Given the description of an element on the screen output the (x, y) to click on. 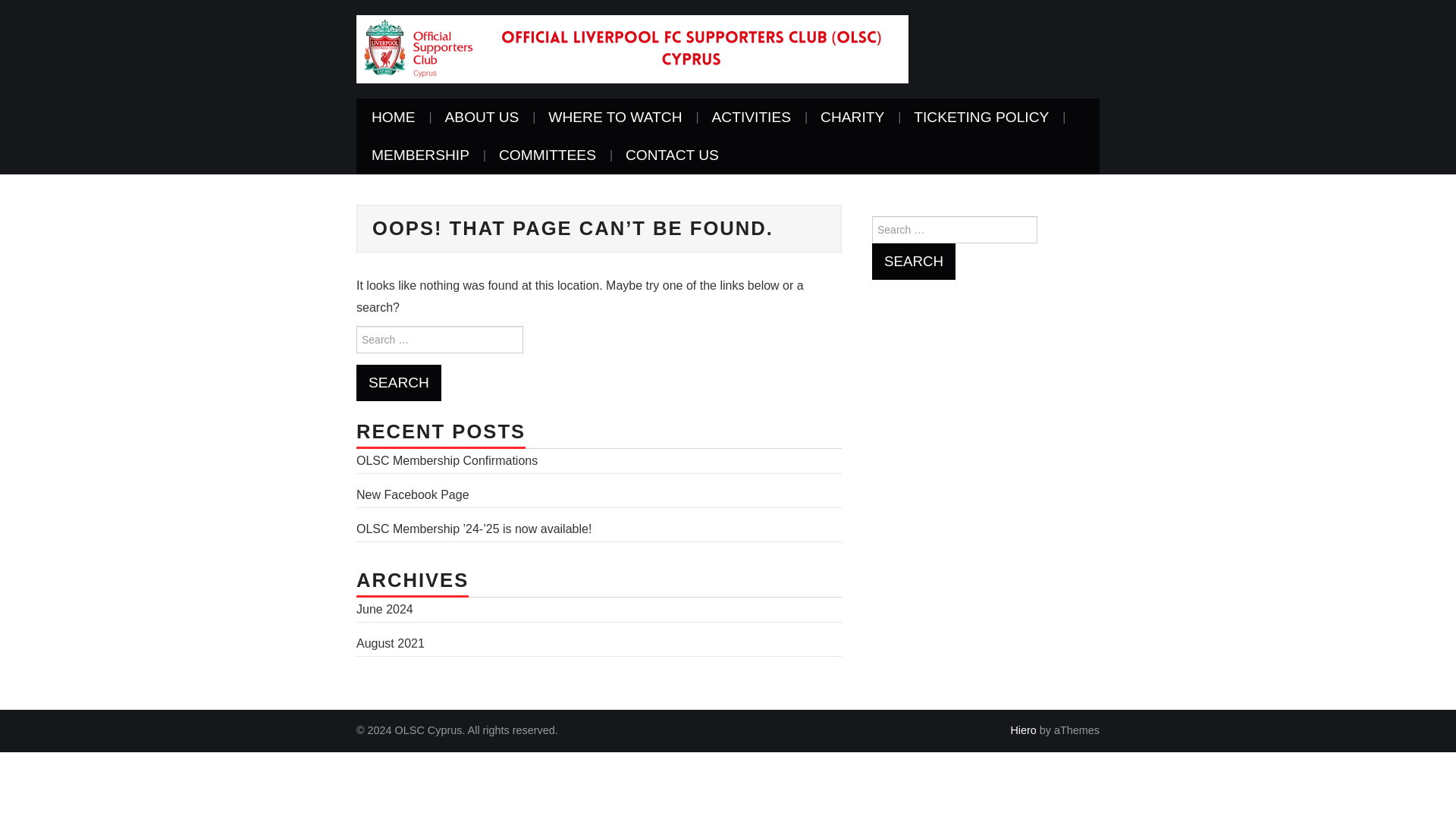
August 2021 (390, 643)
HOME (393, 117)
COMMITTEES (547, 155)
ACTIVITIES (751, 117)
ABOUT US (481, 117)
CONTACT US (671, 155)
Search for: (954, 229)
OLSC Membership Confirmations (446, 460)
New Facebook Page (412, 494)
Search (398, 382)
